Given the description of an element on the screen output the (x, y) to click on. 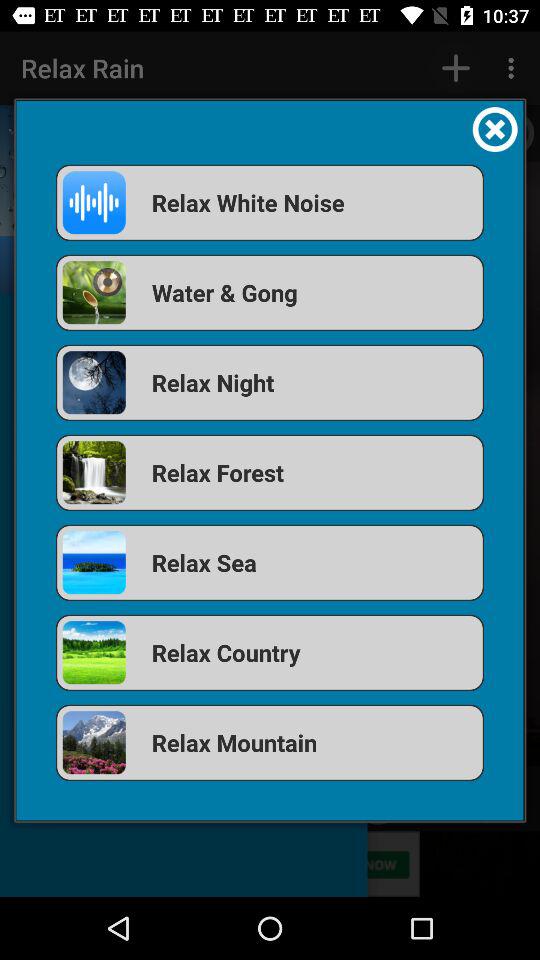
flip to relax white noise app (269, 202)
